Given the description of an element on the screen output the (x, y) to click on. 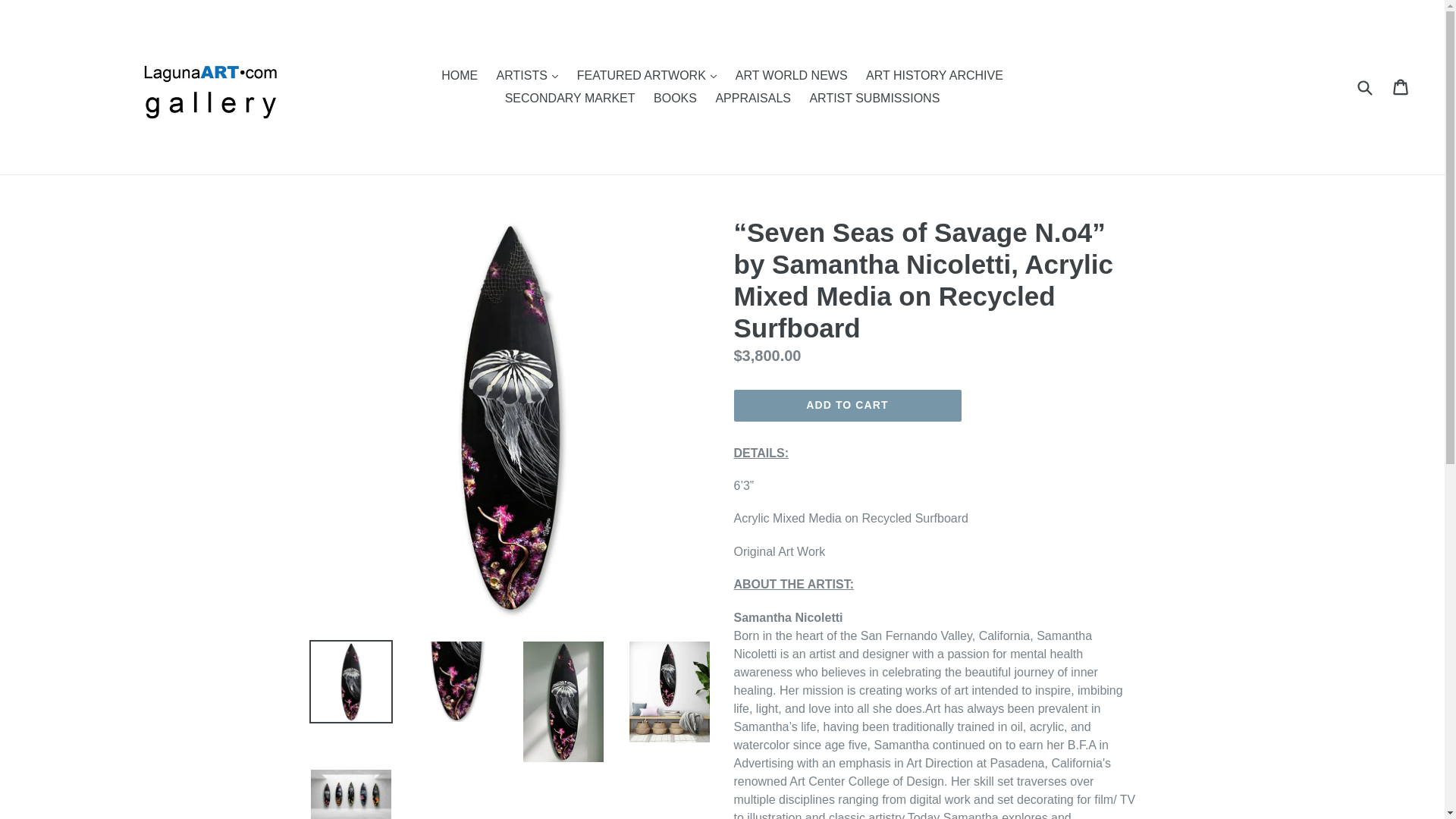
Page 1 (934, 600)
Page 1 (934, 723)
